Given the description of an element on the screen output the (x, y) to click on. 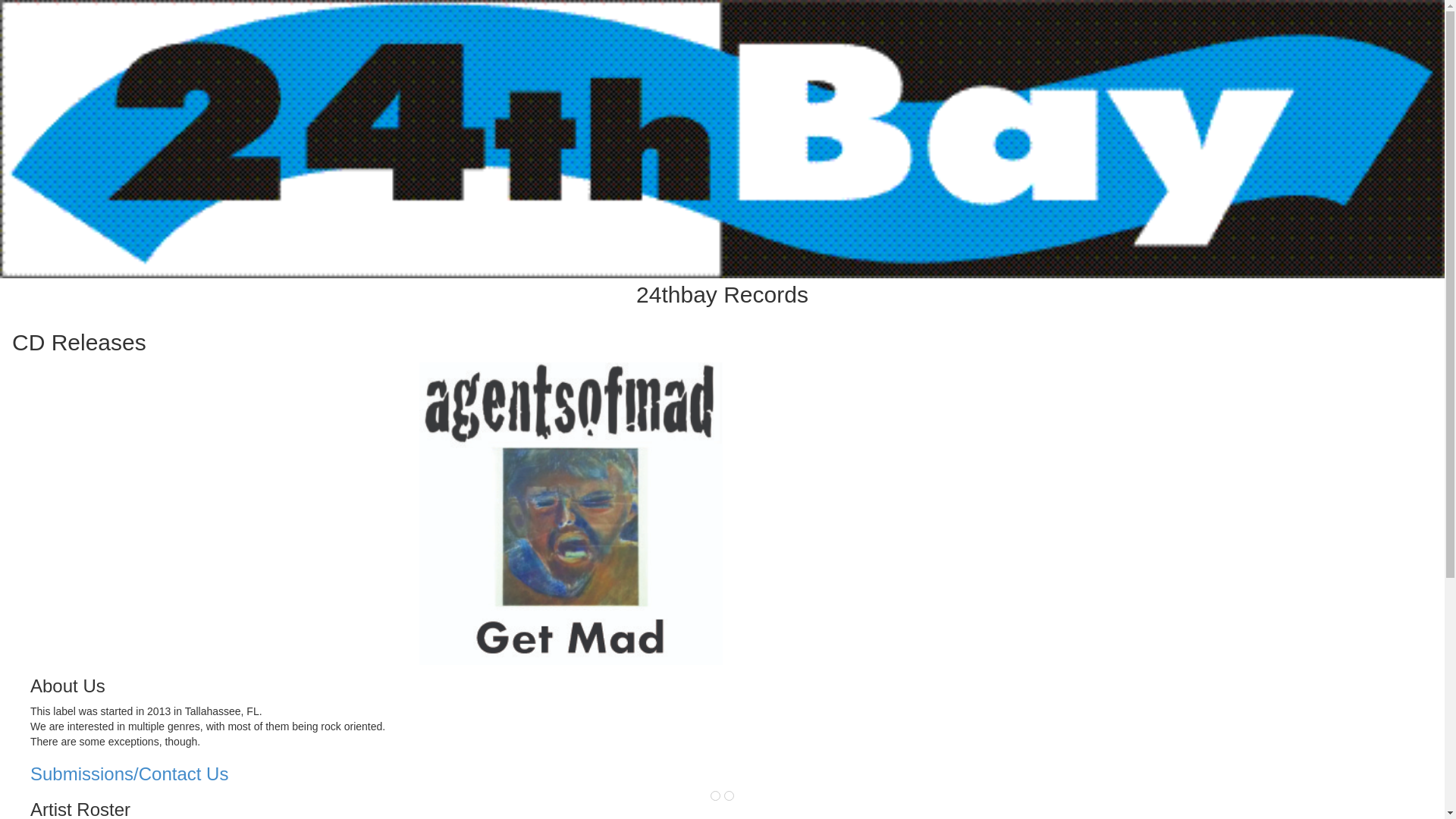
Submissions/Contact Us Element type: text (219, 774)
